Given the description of an element on the screen output the (x, y) to click on. 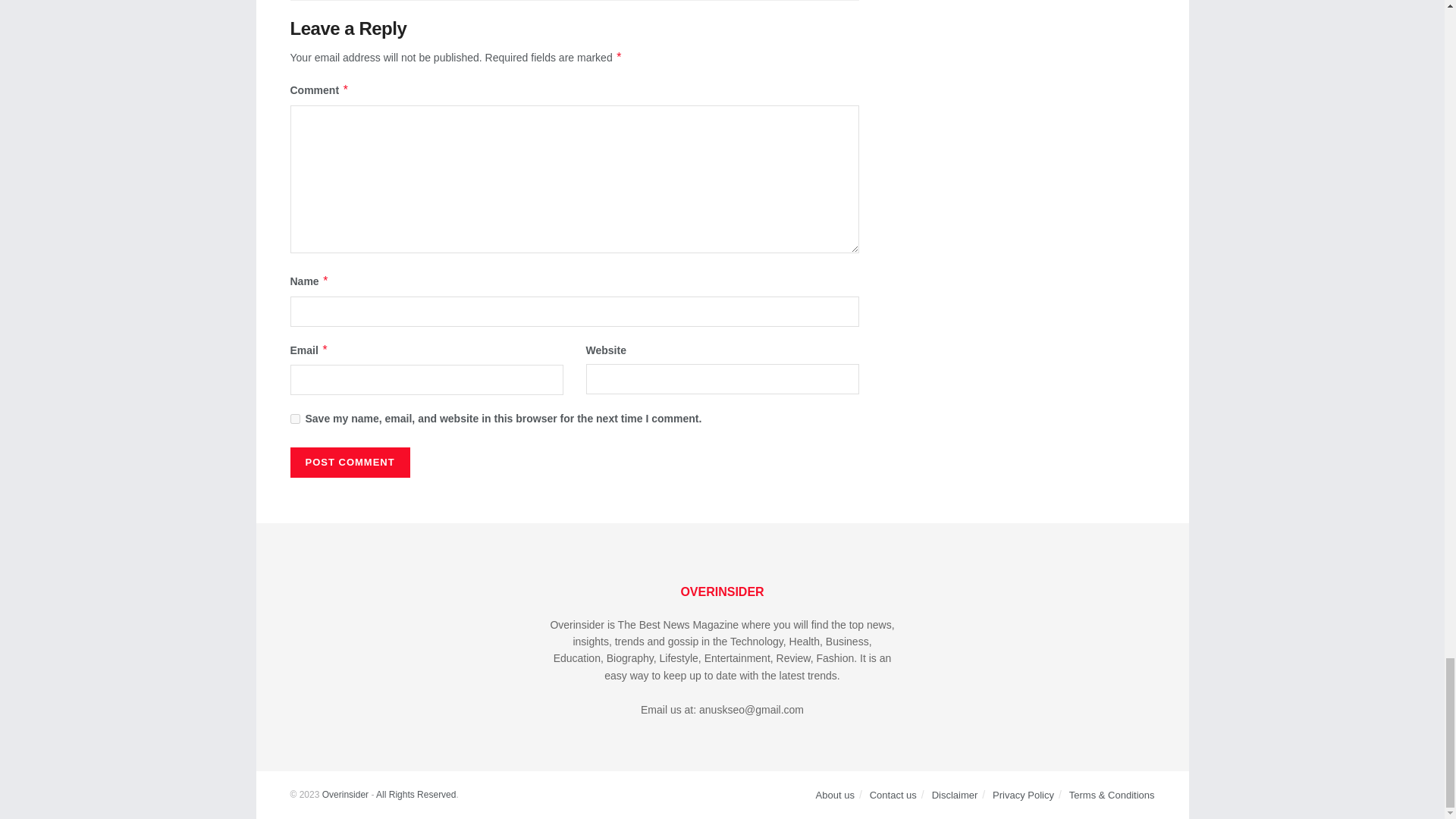
yes (294, 419)
Post Comment (349, 462)
All Rights Reserved (415, 794)
Overinsider (344, 794)
